Given the description of an element on the screen output the (x, y) to click on. 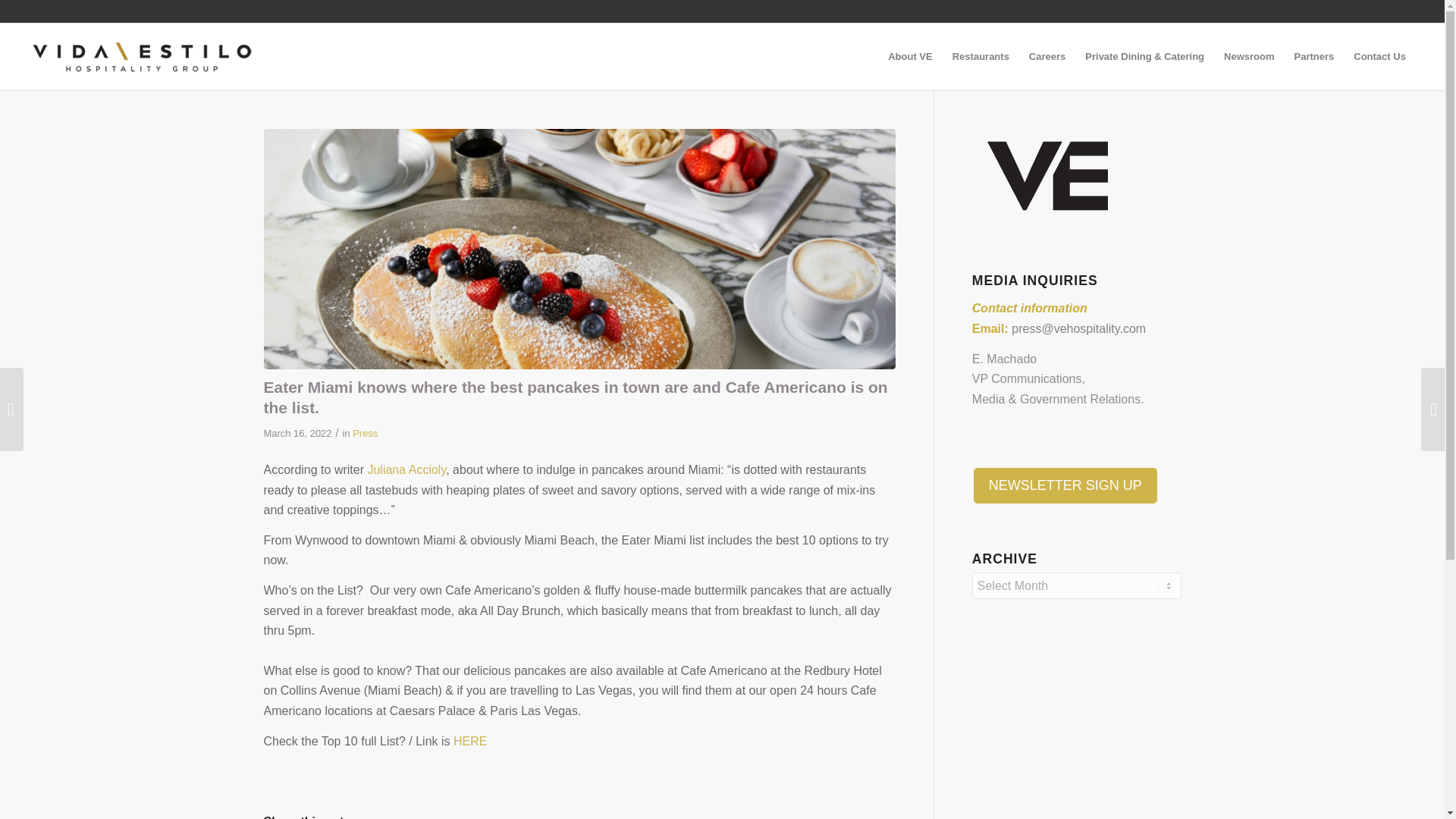
Juliana Accioly (405, 469)
Newsroom (1249, 56)
Partners (1313, 56)
NEWSLETTER SIGN UP (1065, 484)
Restaurants (980, 56)
HERE (469, 740)
About VE (909, 56)
VE-Logo-Hospitality-Group-comprese-new (142, 56)
Contact Us (1379, 56)
Press (364, 432)
